Given the description of an element on the screen output the (x, y) to click on. 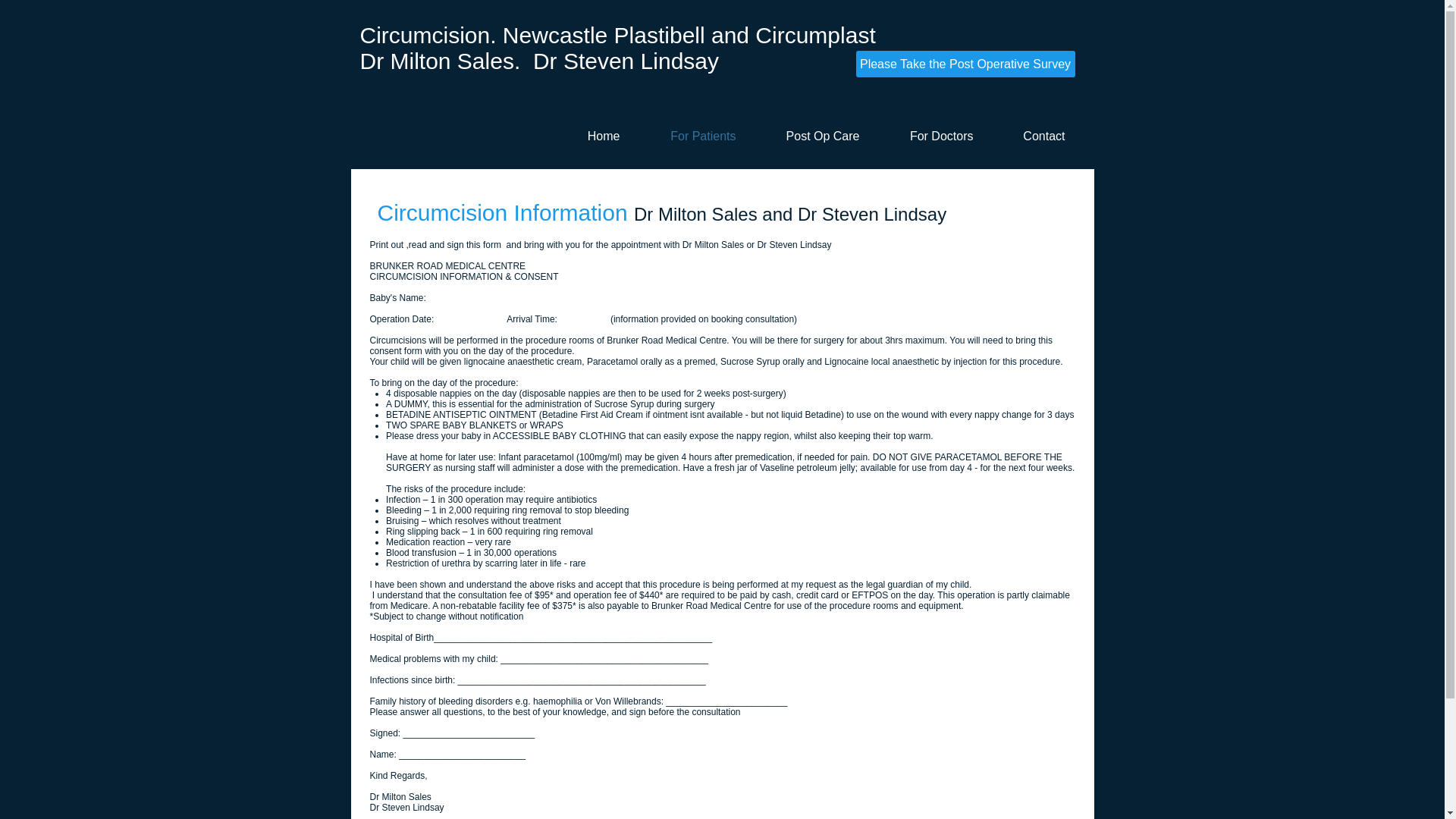
For Doctors (931, 136)
For Patients (692, 136)
Please Take the Post Operative Survey (965, 63)
Home (592, 136)
Post Op Care (813, 136)
Contact (1034, 136)
